Given the description of an element on the screen output the (x, y) to click on. 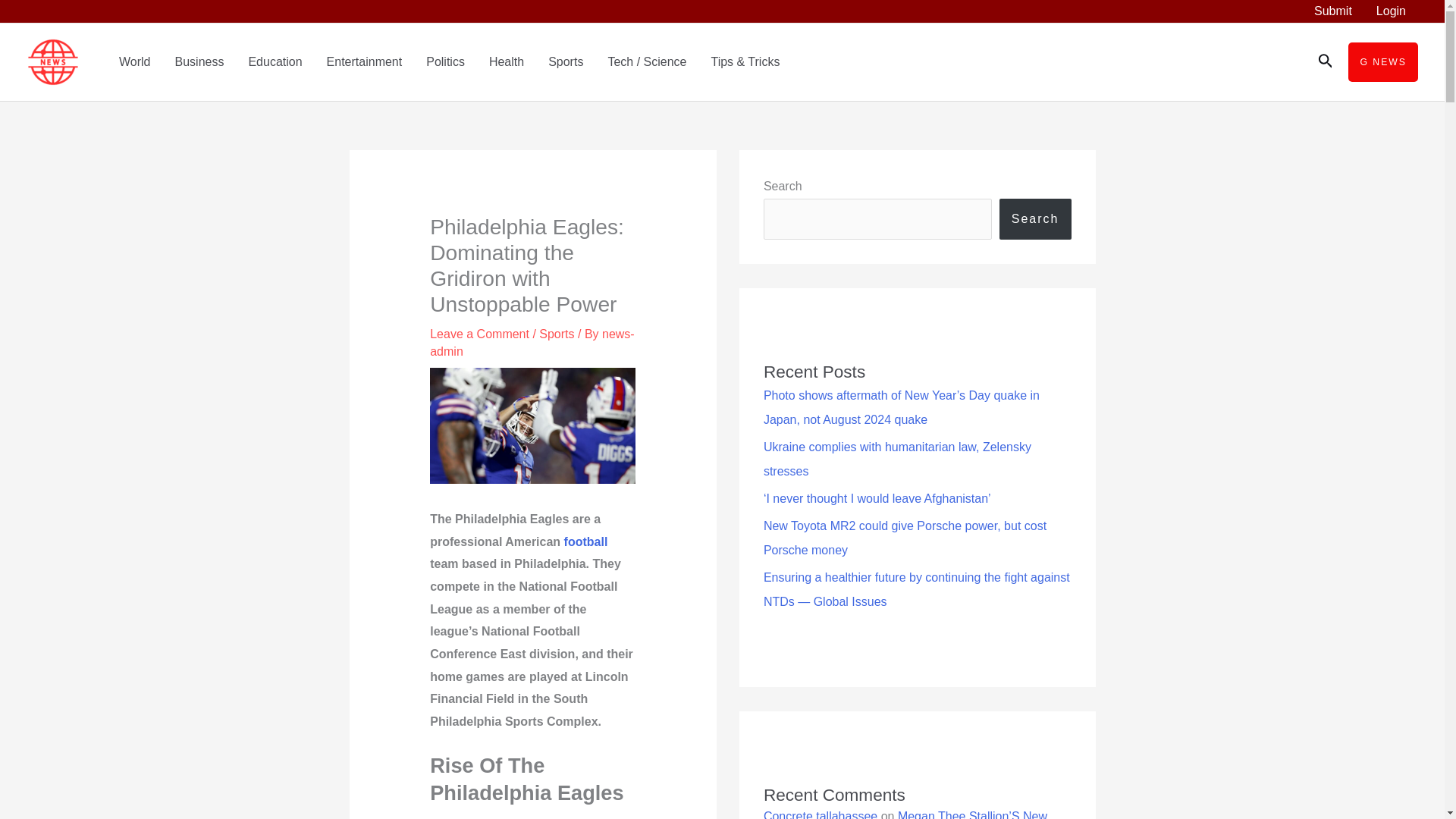
View all posts by news-admin (531, 342)
Entertainment (364, 61)
Sports (555, 333)
G NEWS (1383, 62)
news-admin (531, 342)
Login (1391, 11)
Business (198, 61)
football (586, 541)
Submit (1332, 11)
